Given the description of an element on the screen output the (x, y) to click on. 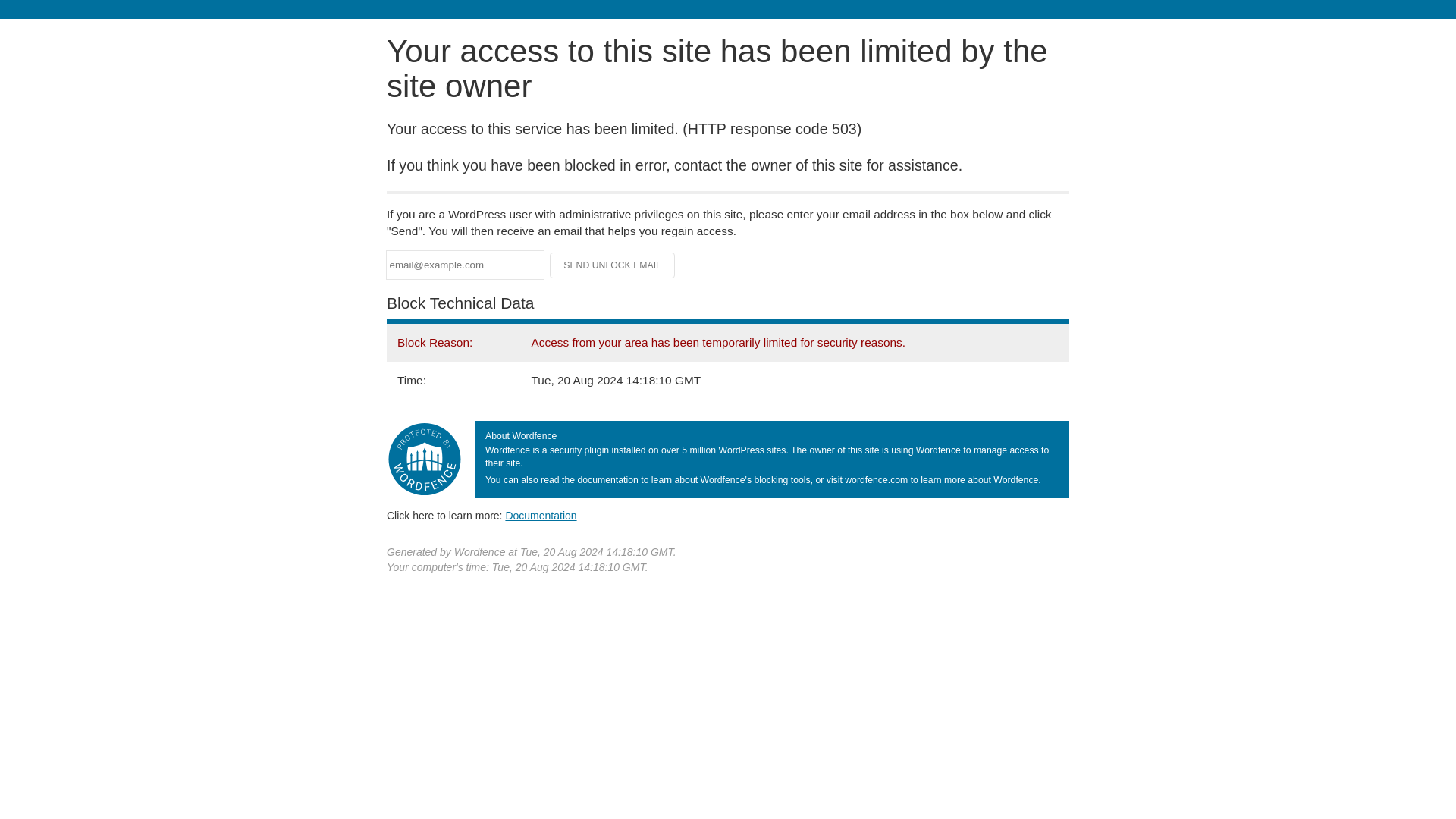
Send Unlock Email (612, 265)
Documentation (540, 515)
Send Unlock Email (612, 265)
